Given the description of an element on the screen output the (x, y) to click on. 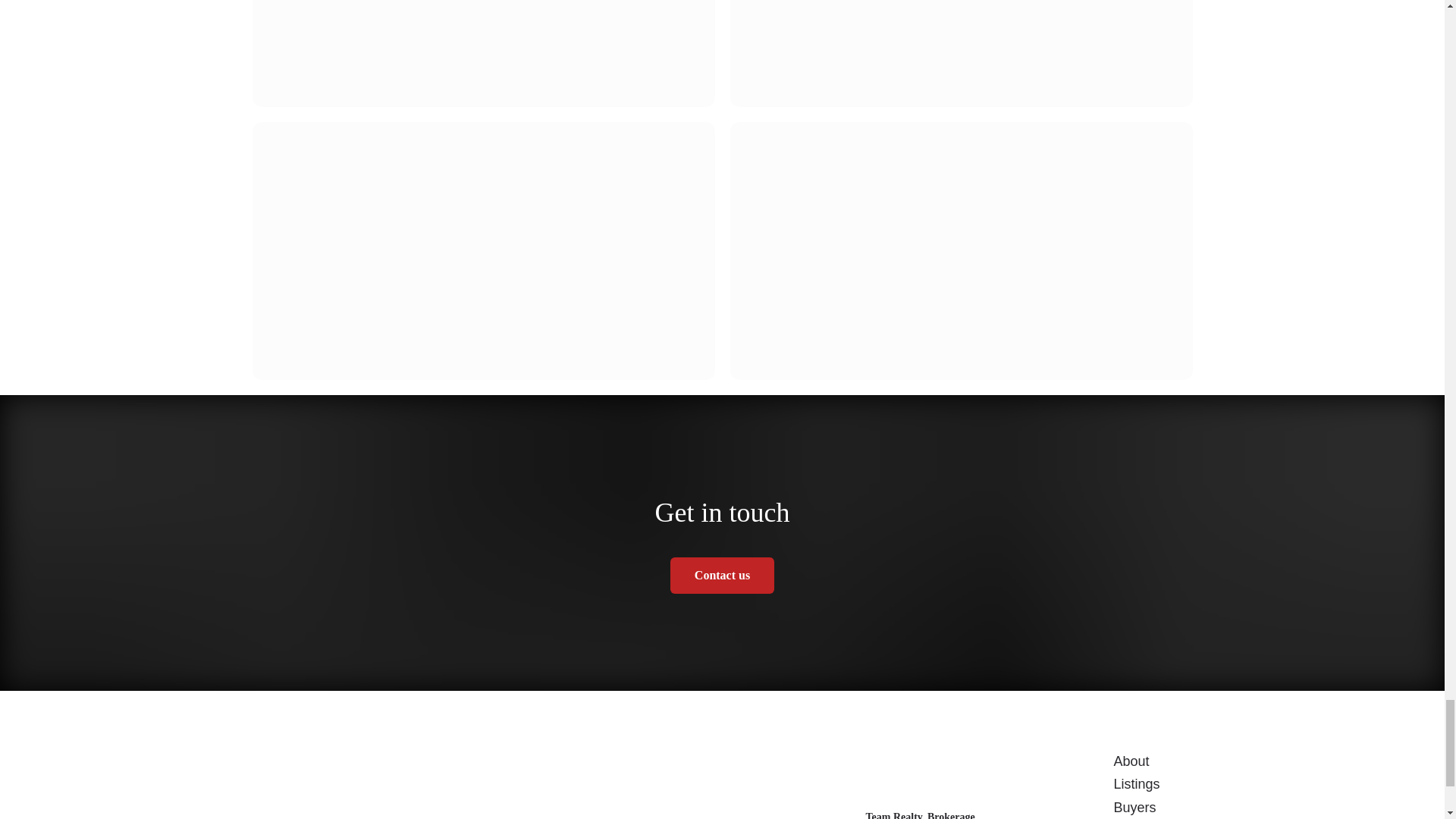
About (1130, 761)
Buyers (1134, 807)
Listings (1135, 783)
Contact us (721, 575)
